Given the description of an element on the screen output the (x, y) to click on. 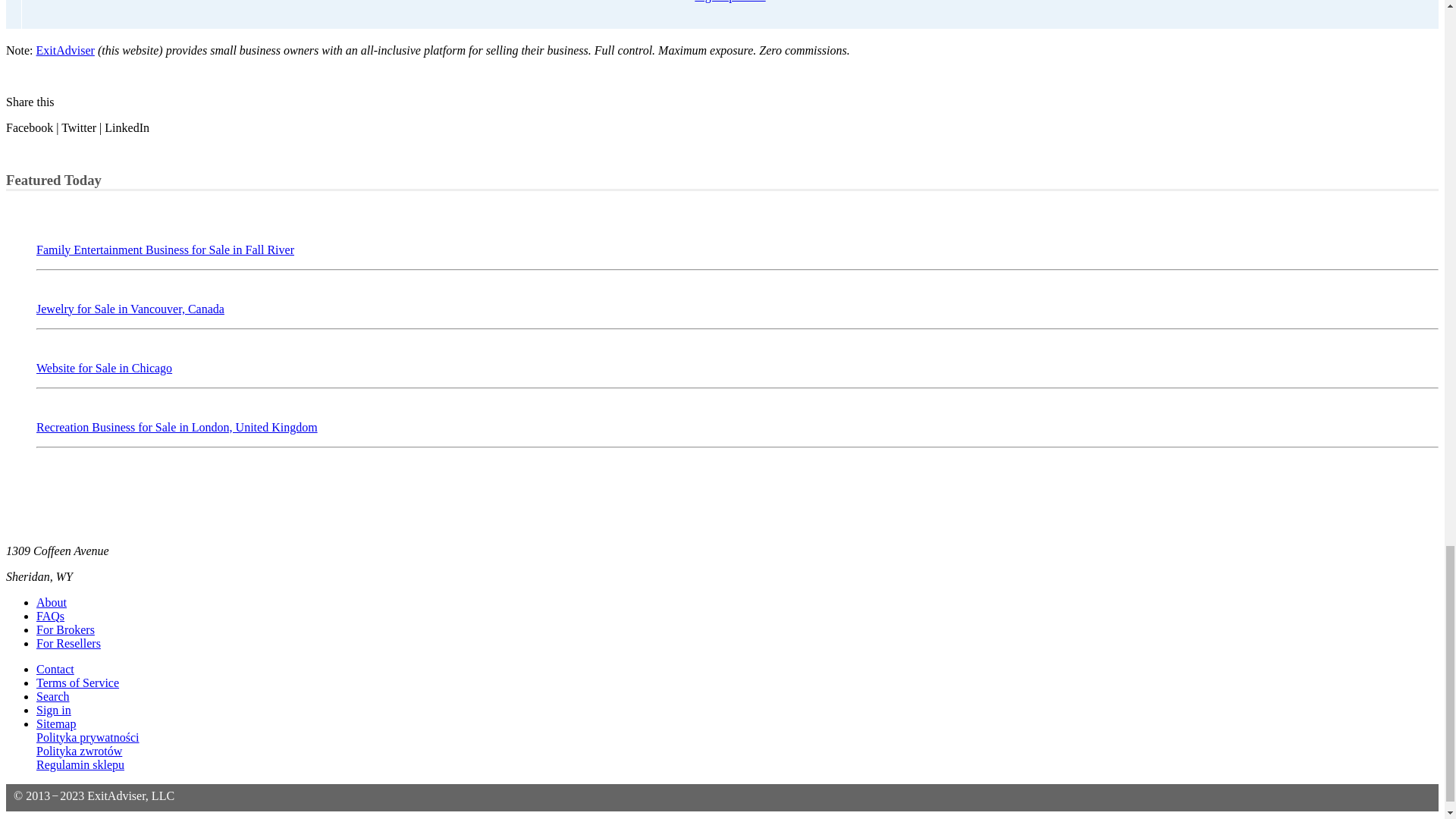
Term of service, privacy policy (77, 682)
Sign Up Now! (729, 1)
Affiliate-Influencer Program for Resellers (68, 643)
Share on Facebook (28, 127)
Facebook (28, 127)
Tweet this (78, 127)
ExitAdviser (65, 50)
Share on LinkedIn (126, 127)
